Given the description of an element on the screen output the (x, y) to click on. 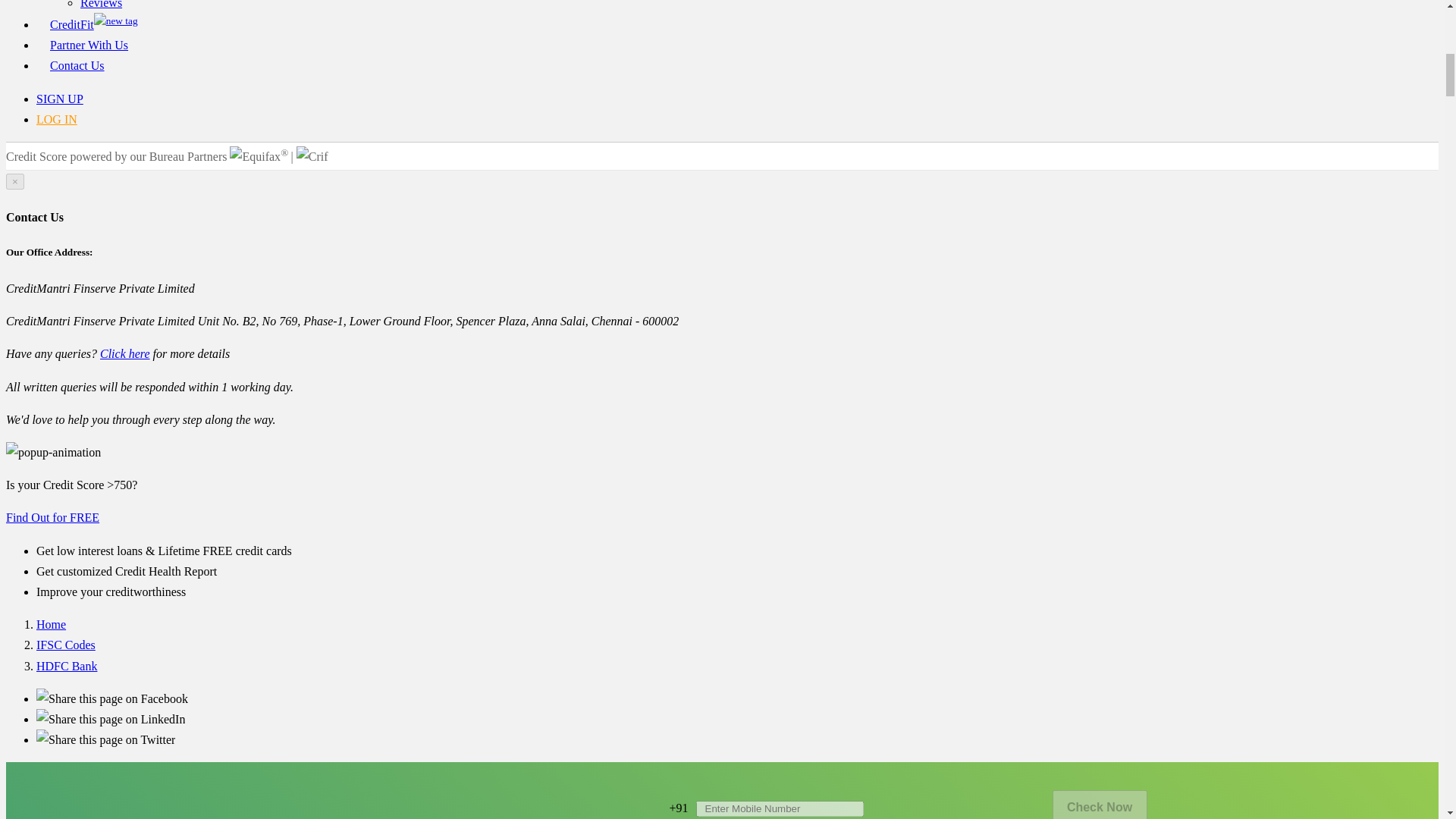
Share this page on Twitter (105, 739)
HDFC Bank (66, 666)
SIGN UP (59, 98)
Partner With Us (88, 44)
Reviews (101, 4)
Check Now (1099, 804)
Share this page on LinkedIn (110, 718)
CreditFit (93, 24)
Click here (124, 353)
Share this page on Facebook (111, 698)
Home (50, 624)
Home (50, 624)
Contact Us (76, 65)
IFSC Codes (66, 644)
LOG IN (56, 119)
